Given the description of an element on the screen output the (x, y) to click on. 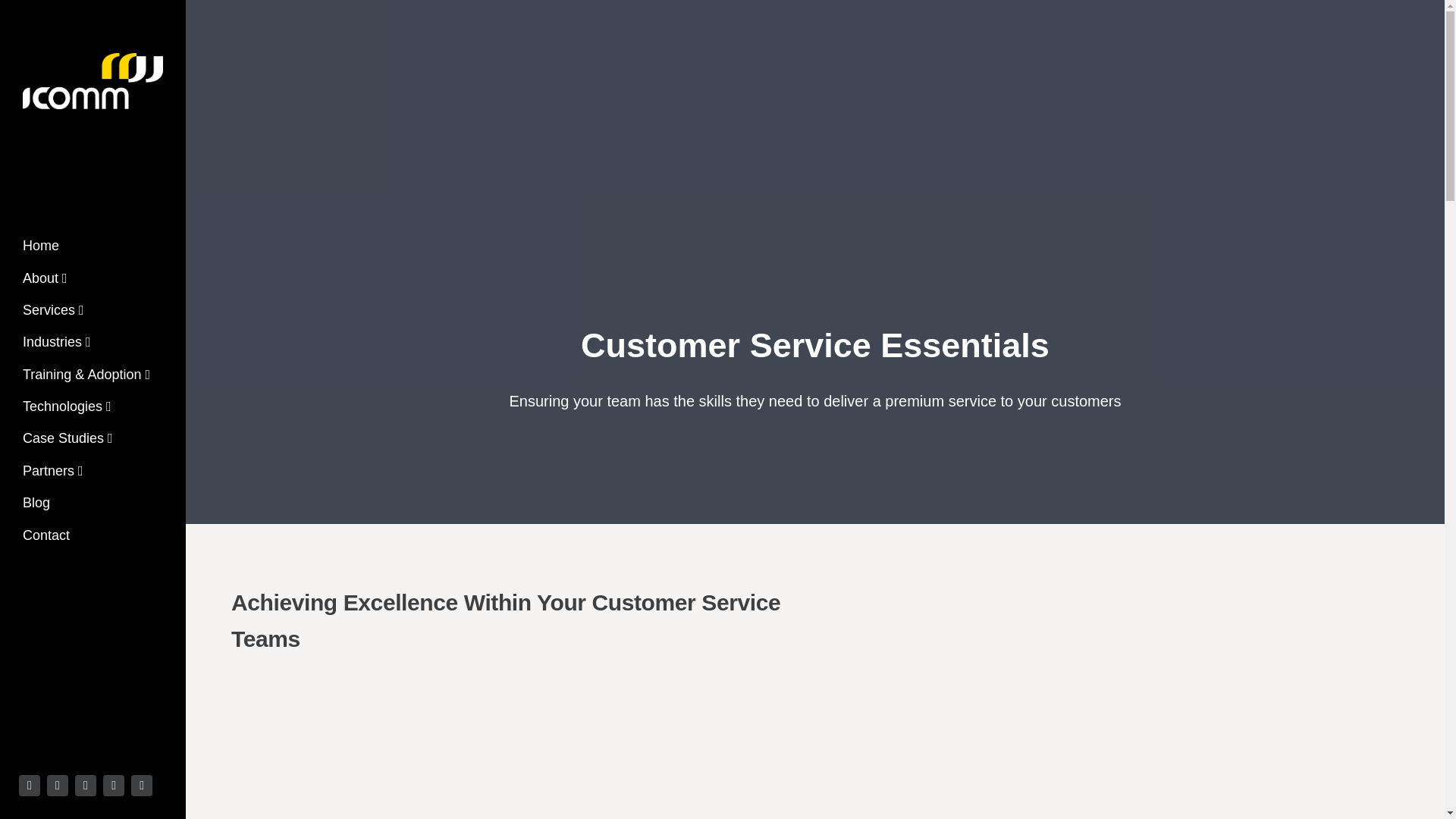
About (45, 282)
Technologies (66, 410)
Services (53, 314)
Home (40, 249)
Industries (56, 345)
